Given the description of an element on the screen output the (x, y) to click on. 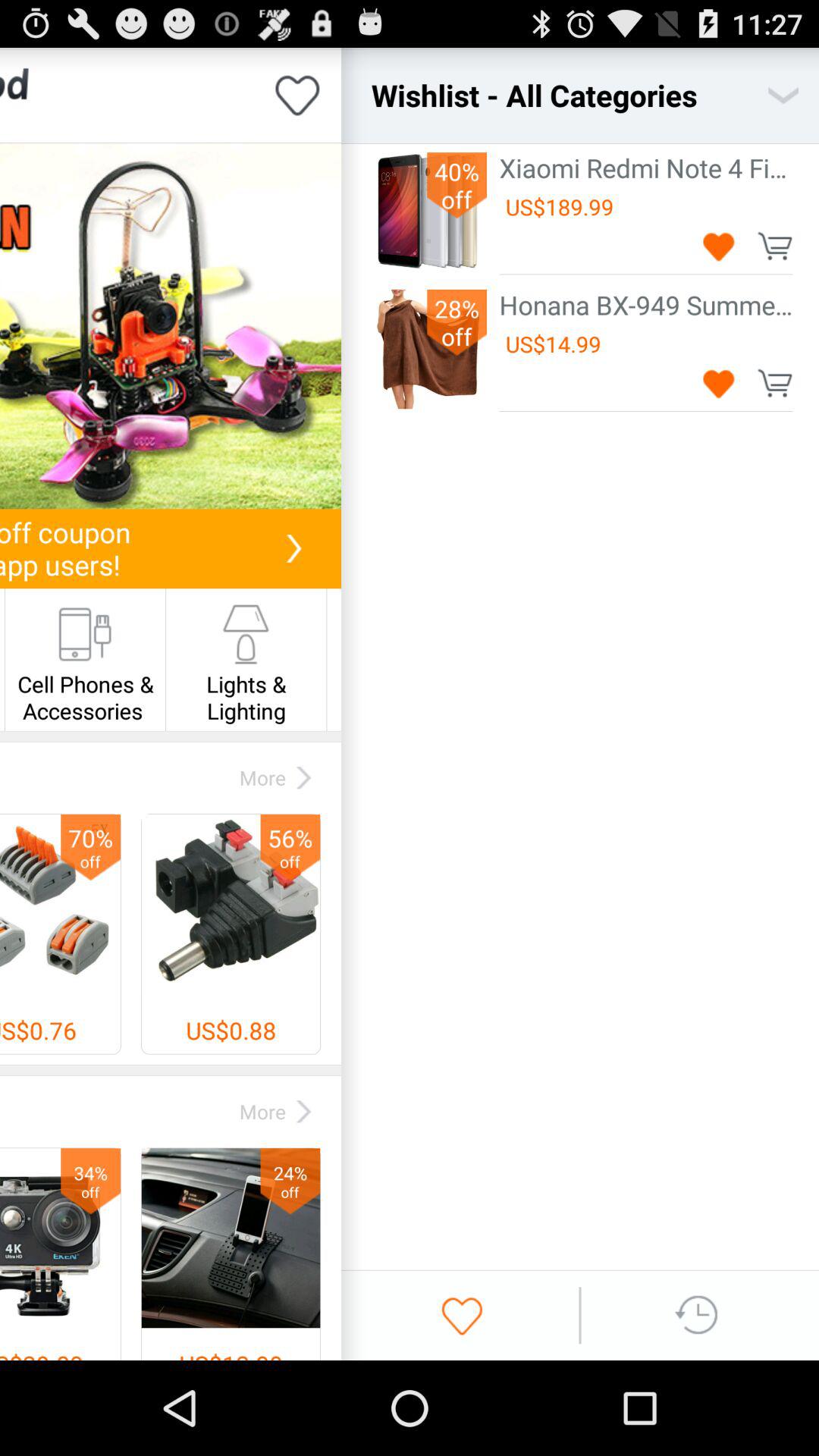
choose item above join us will icon (170, 326)
